Given the description of an element on the screen output the (x, y) to click on. 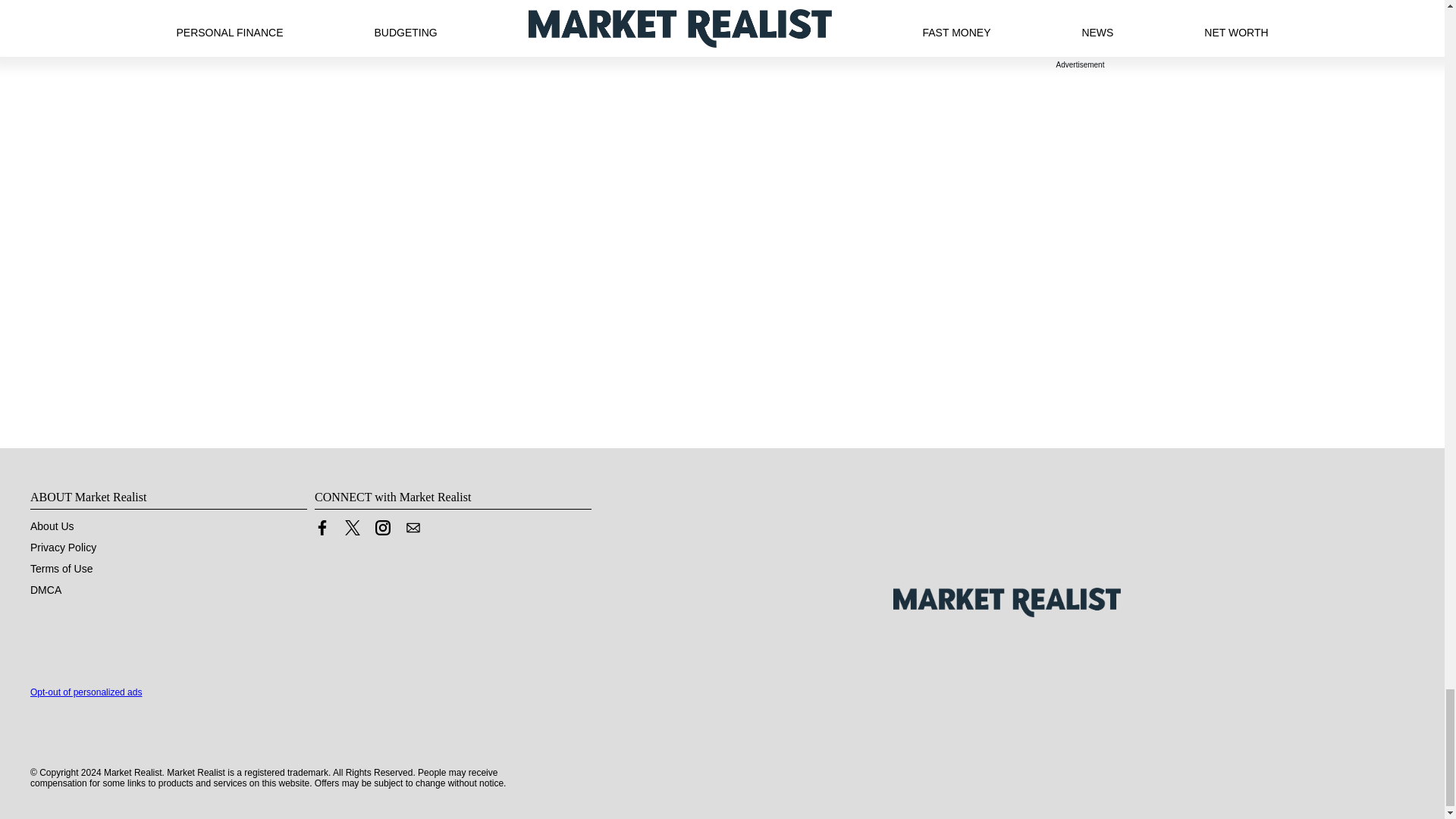
Terms of Use (61, 568)
Terms of Use (61, 568)
Link to Instagram (382, 527)
Contact us by Email (413, 527)
Contact us by Email (413, 531)
Link to Facebook (322, 531)
About Us (52, 526)
DMCA (45, 589)
Opt-out of personalized ads (85, 692)
DMCA (45, 589)
Link to Facebook (322, 527)
Link to X (352, 531)
Privacy Policy (63, 547)
Link to Instagram (382, 531)
About Us (52, 526)
